Given the description of an element on the screen output the (x, y) to click on. 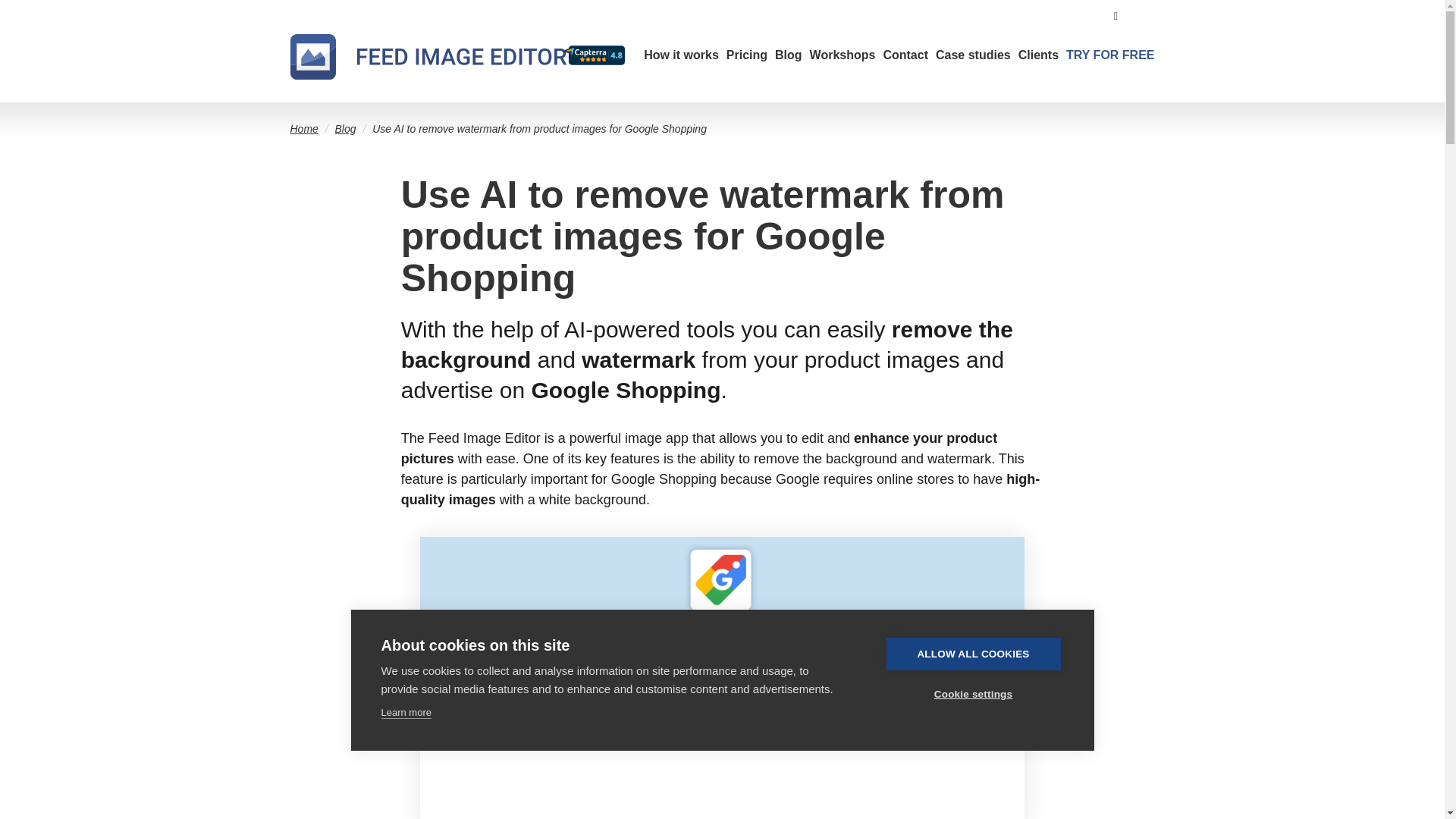
Clients (1037, 55)
Home (427, 56)
English (1145, 14)
How it works (681, 55)
Blog (788, 55)
Search (1115, 15)
Case studies (973, 55)
Contact (905, 55)
Enter the terms you wish to search for. (1118, 14)
TRY FOR FREE (1109, 55)
